Given the description of an element on the screen output the (x, y) to click on. 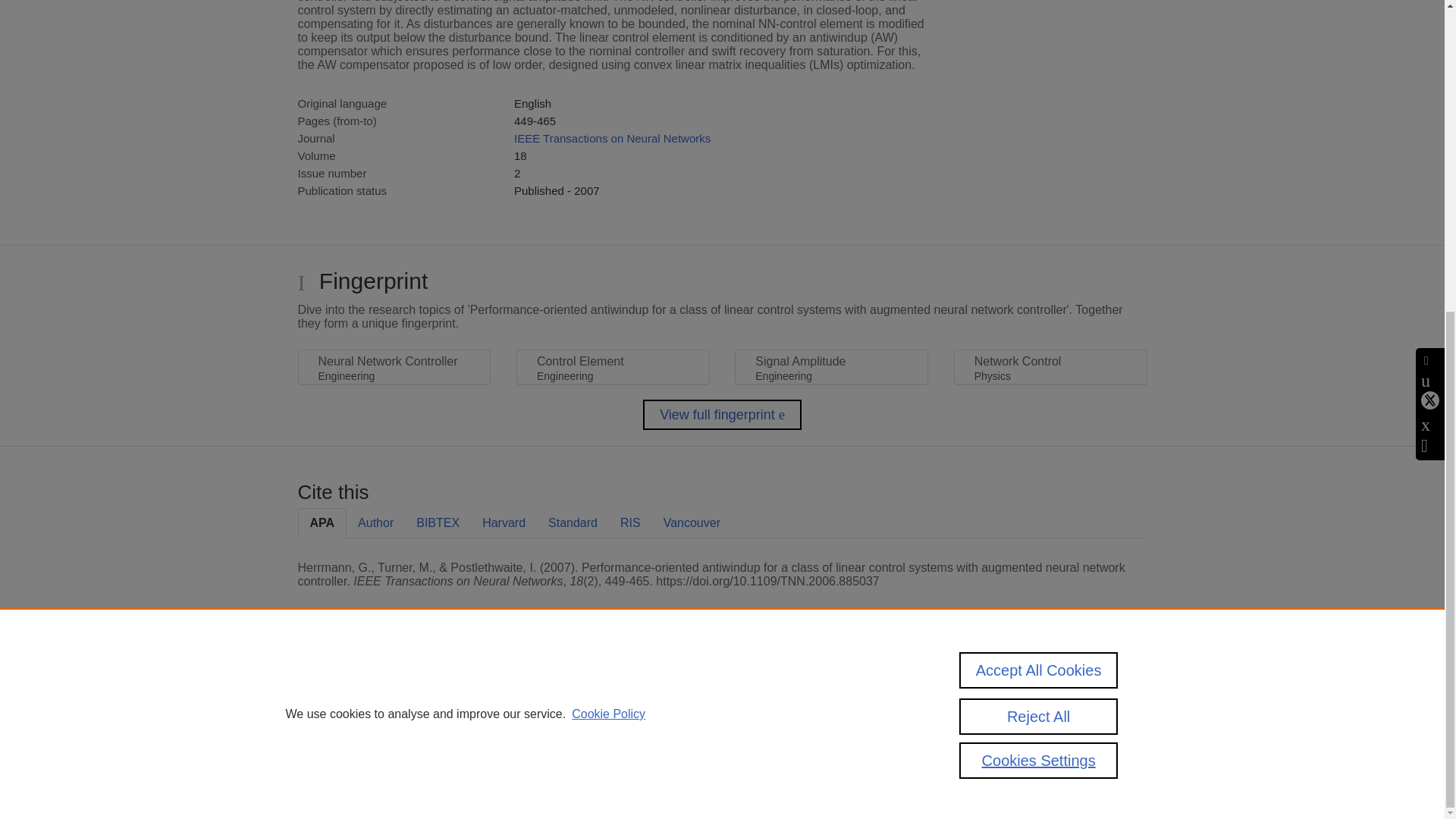
Report vulnerability (959, 739)
Log in to Pure (327, 781)
Pure (362, 686)
Contact us (1123, 692)
use of cookies (796, 739)
View full fingerprint (722, 414)
About web accessibility (967, 718)
Scopus (394, 686)
Cookies Settings (334, 760)
